Given the description of an element on the screen output the (x, y) to click on. 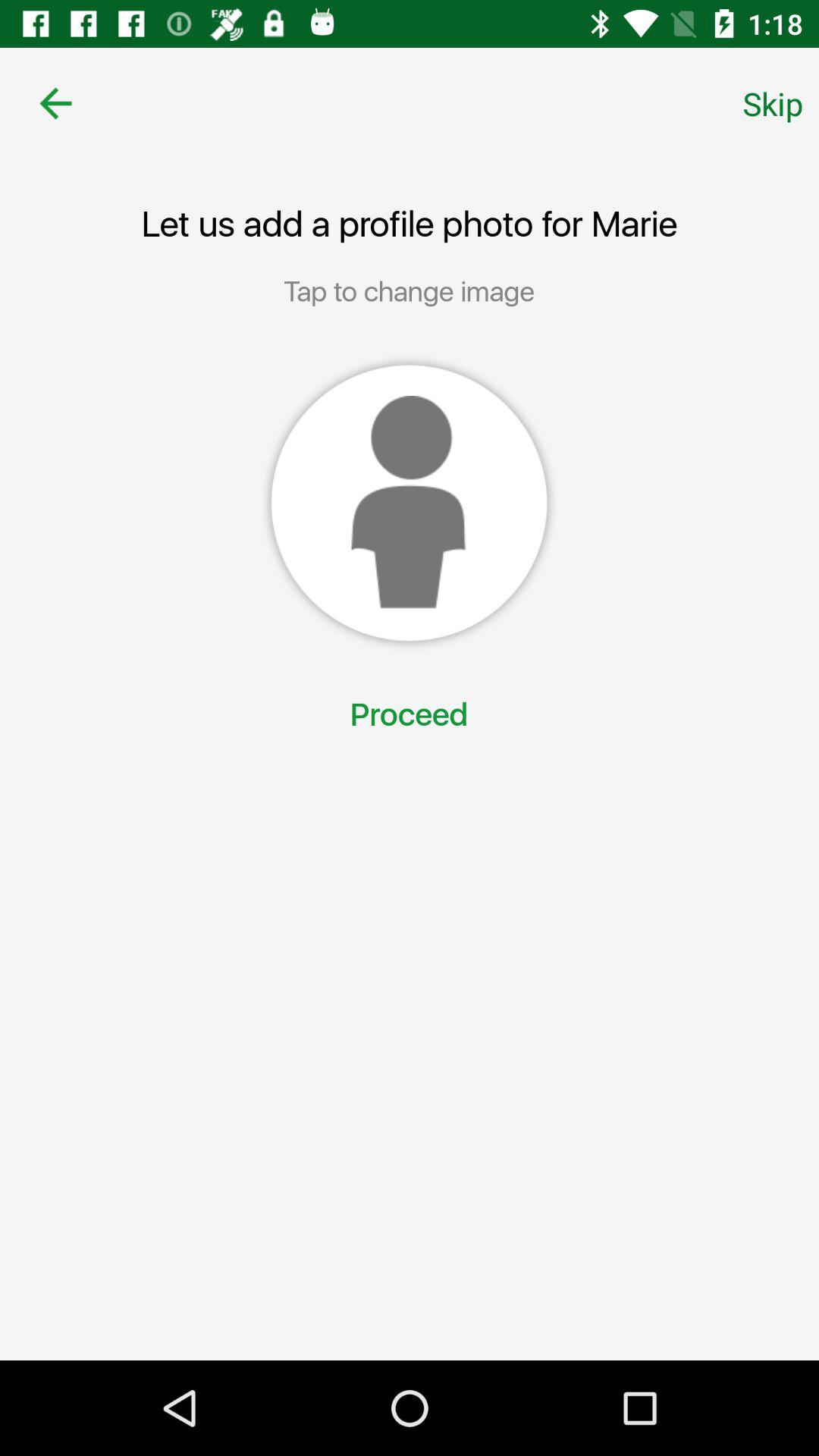
tap icon at the top left corner (55, 103)
